Given the description of an element on the screen output the (x, y) to click on. 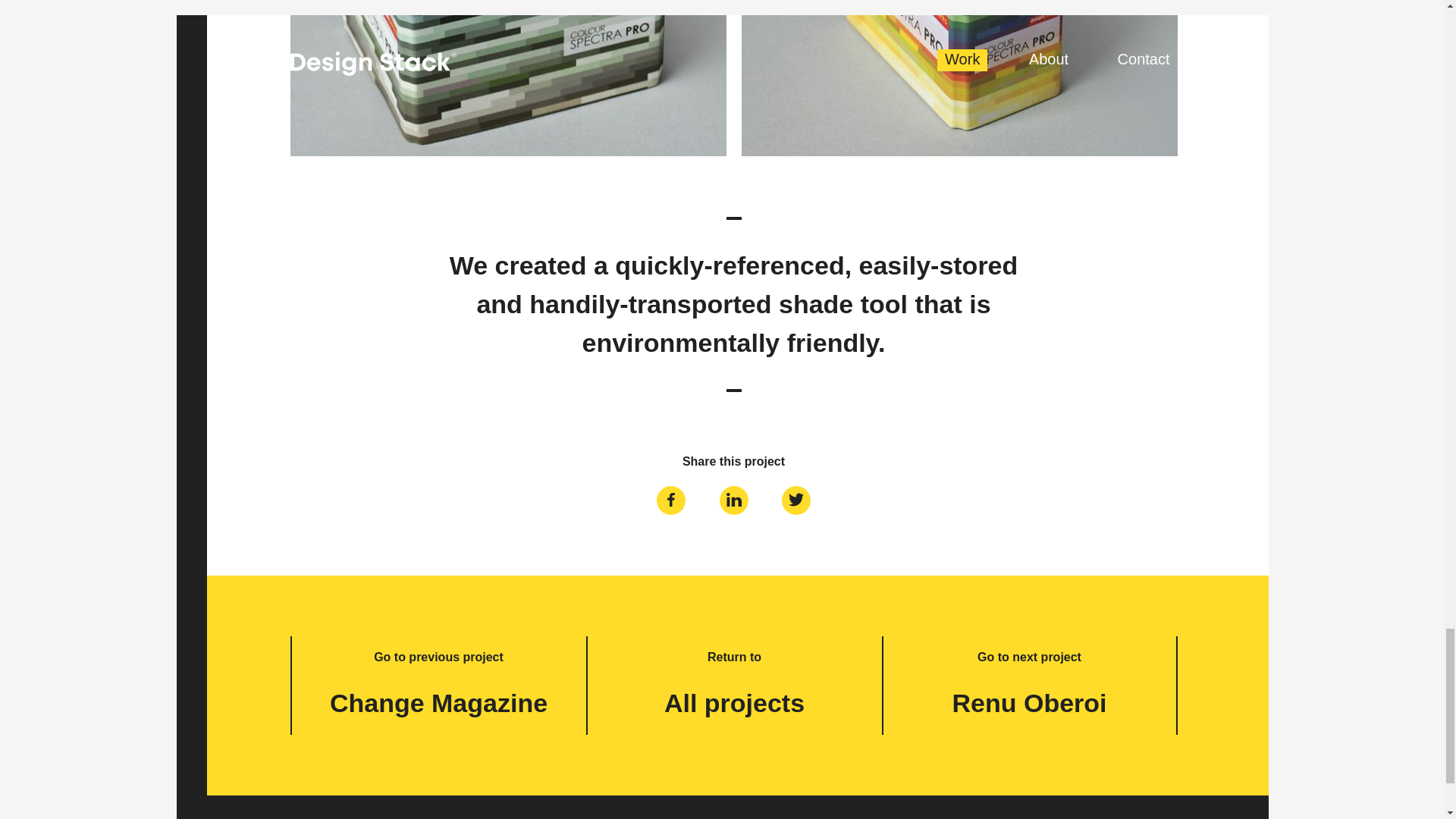
All projects (734, 702)
Twitter (796, 499)
Change Magazine (438, 702)
Linkedin (733, 499)
